Given the description of an element on the screen output the (x, y) to click on. 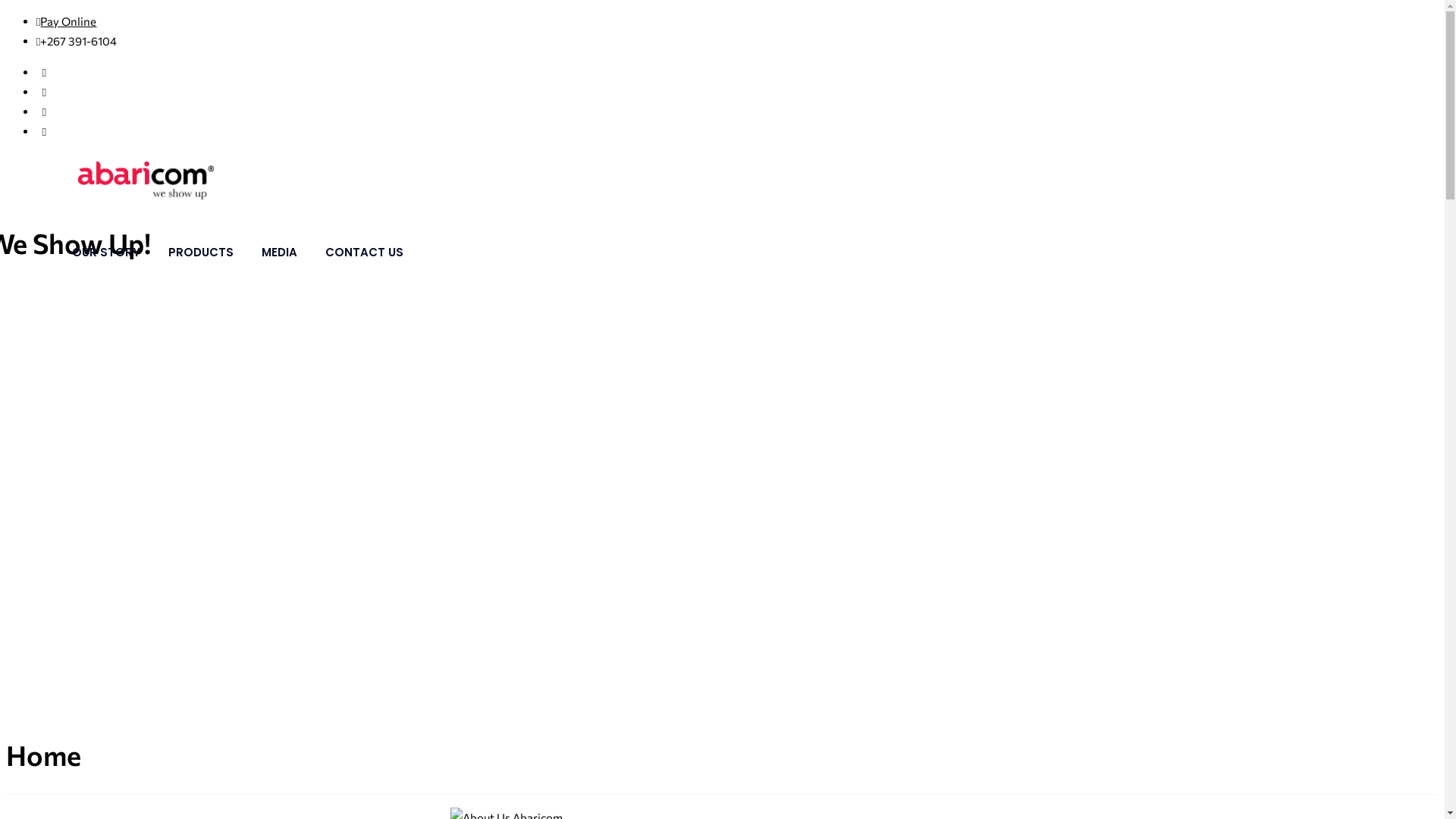
MEDIA Element type: text (279, 252)
Pay Online Element type: text (68, 21)
OUR STORY Element type: text (106, 252)
CONTACT US Element type: text (364, 252)
PRODUCTS Element type: text (200, 252)
